Given the description of an element on the screen output the (x, y) to click on. 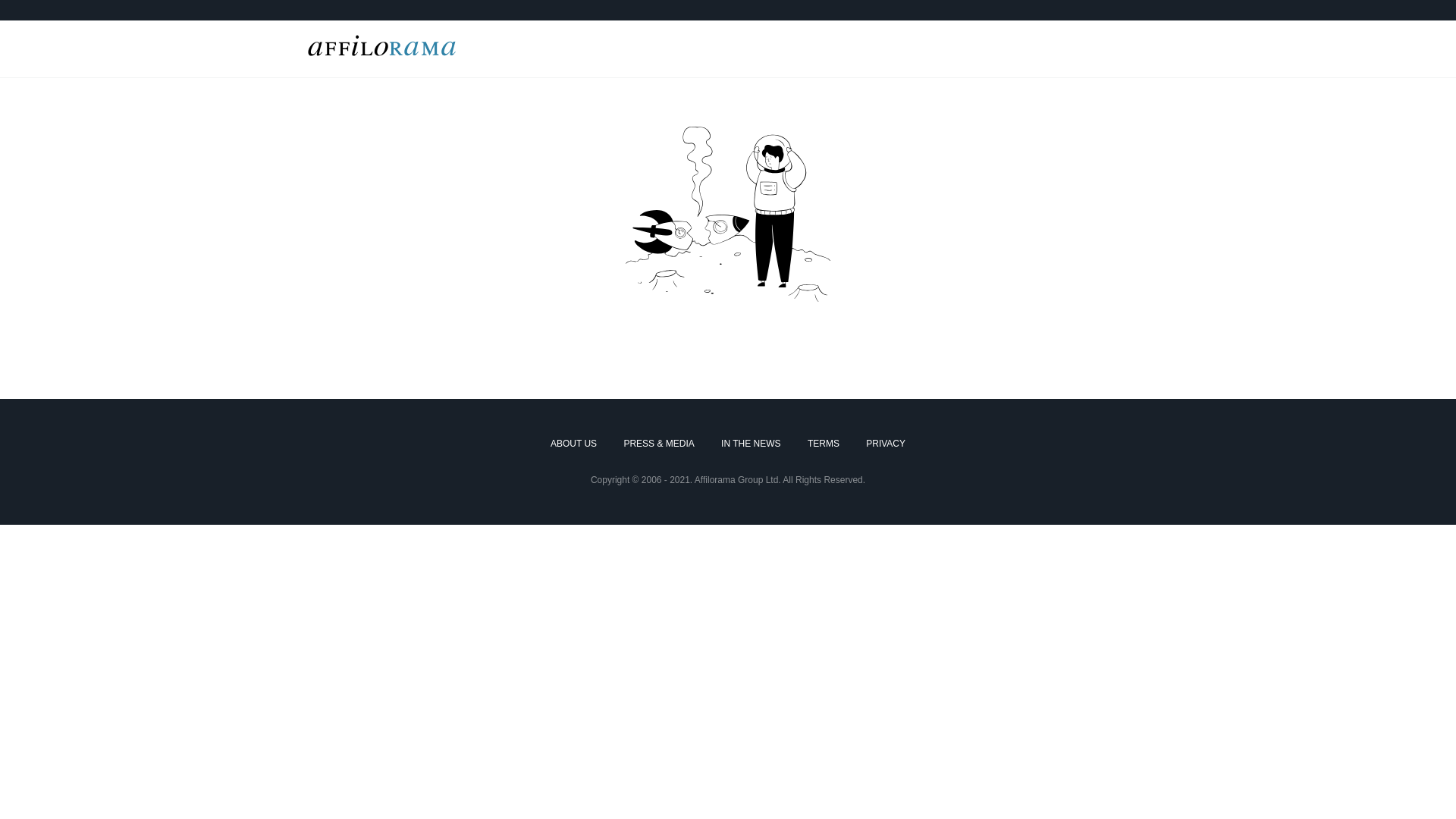
PRIVACY (885, 444)
ABOUT US (573, 444)
TERMS (824, 444)
IN THE NEWS (750, 444)
